Given the description of an element on the screen output the (x, y) to click on. 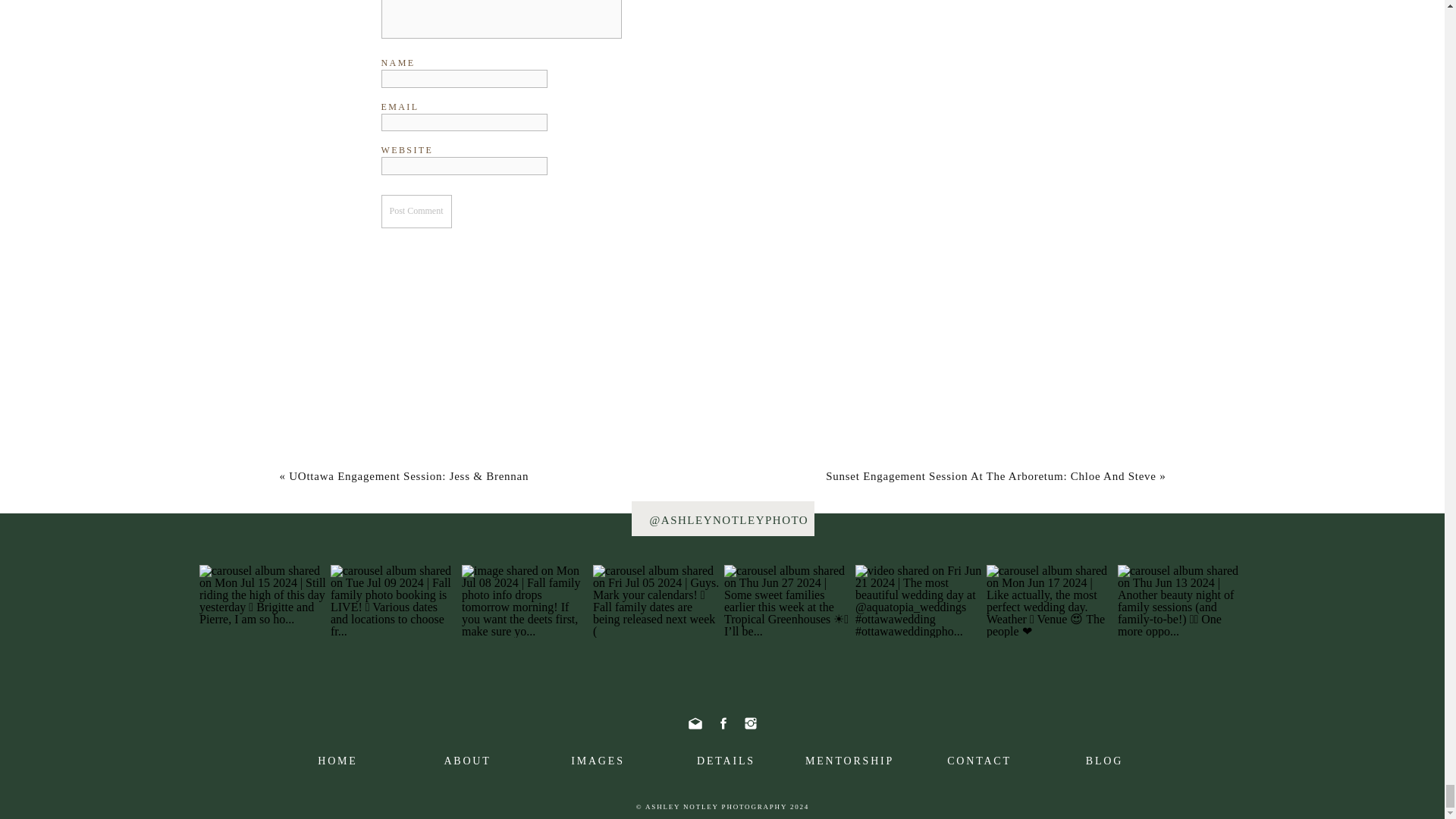
Post Comment (415, 211)
Sunset Engagement Session At The Arboretum: Chloe And Steve (990, 476)
Post Comment (415, 211)
